Given the description of an element on the screen output the (x, y) to click on. 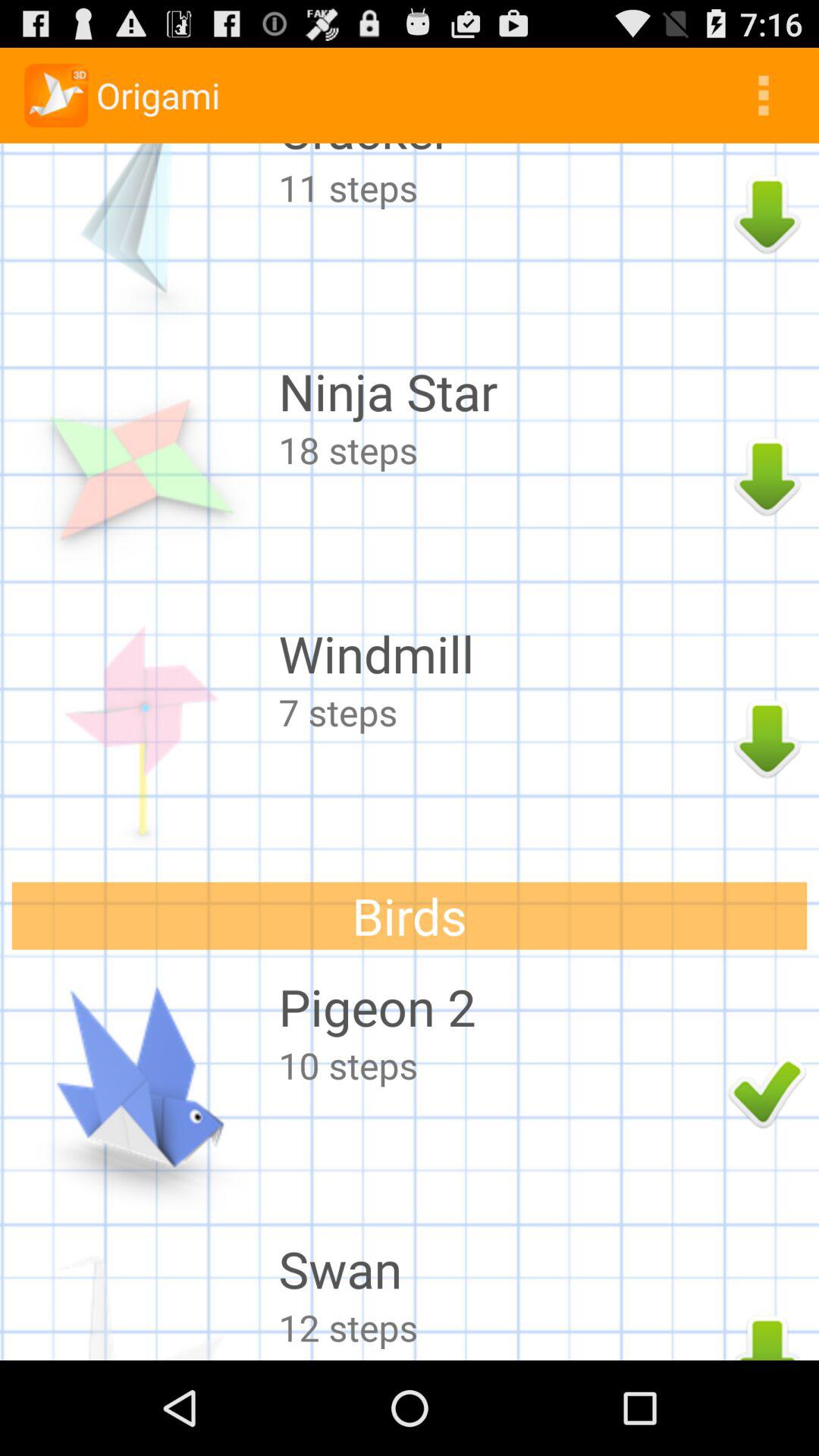
swipe until 11 steps item (498, 187)
